Given the description of an element on the screen output the (x, y) to click on. 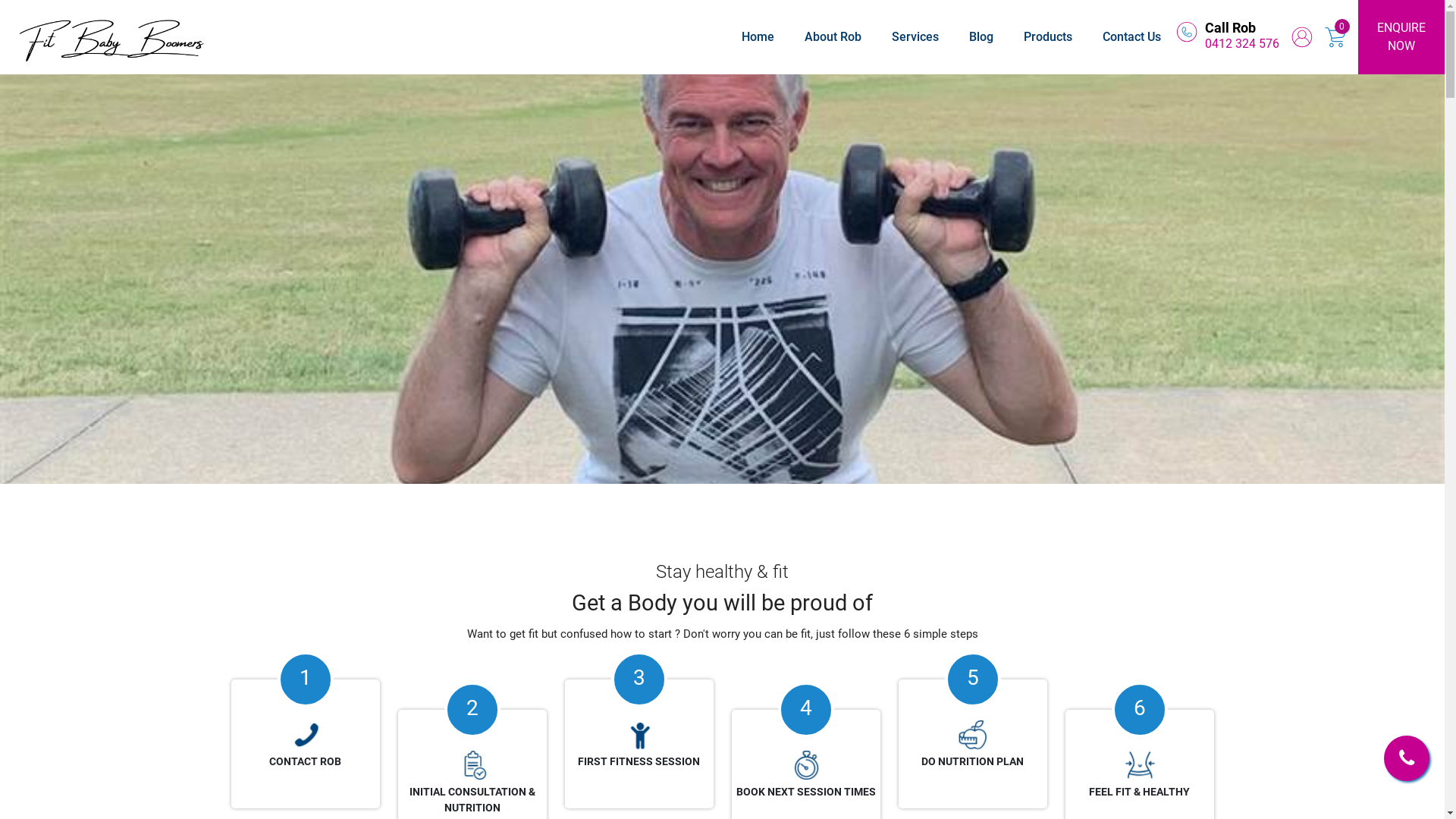
Products Element type: text (1047, 36)
Blog Element type: text (981, 36)
Home Element type: text (757, 36)
0412 324 576 Element type: text (1241, 43)
Fitbabyboomers Element type: hover (112, 36)
ENQUIRE
NOW Element type: text (1401, 36)
Contact Us Element type: text (1131, 36)
Services Element type: text (914, 36)
0 Element type: text (1341, 26)
About Rob Element type: text (832, 36)
Fitbabyboomers Element type: hover (1186, 31)
